Given the description of an element on the screen output the (x, y) to click on. 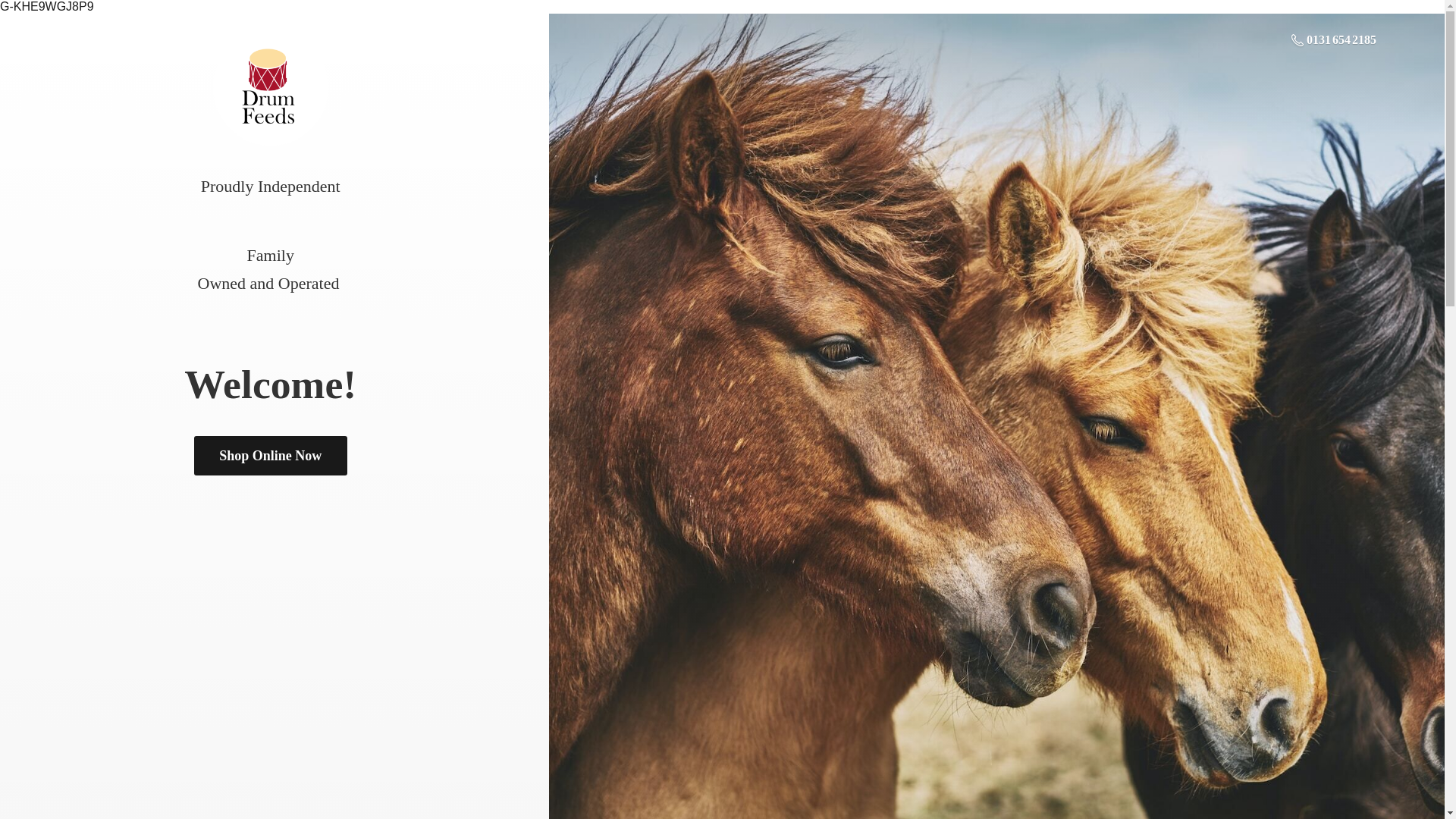
Shop Online Now (270, 455)
